Given the description of an element on the screen output the (x, y) to click on. 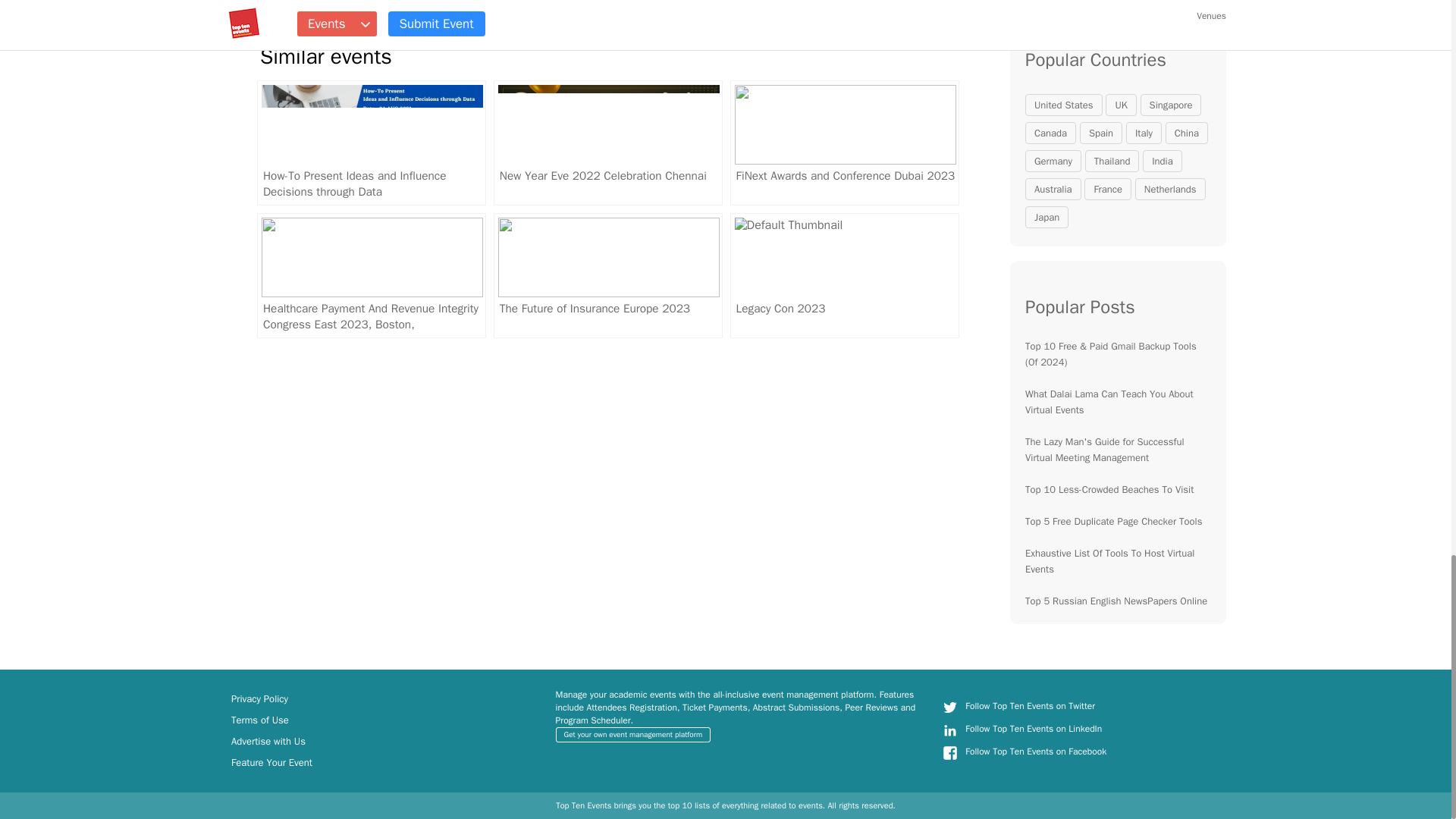
FiNext Awards and Conference Dubai 2023 (844, 142)
The Future of Insurance Europe 2023 (607, 275)
New Year Eve 2022 Celebration Chennai (607, 142)
Legacy Con 2023 (844, 275)
How-To Present Ideas and Influence Decisions through Data (371, 142)
dryfta-t (950, 729)
dryfta-t (950, 707)
dryfta-t (950, 752)
